Given the description of an element on the screen output the (x, y) to click on. 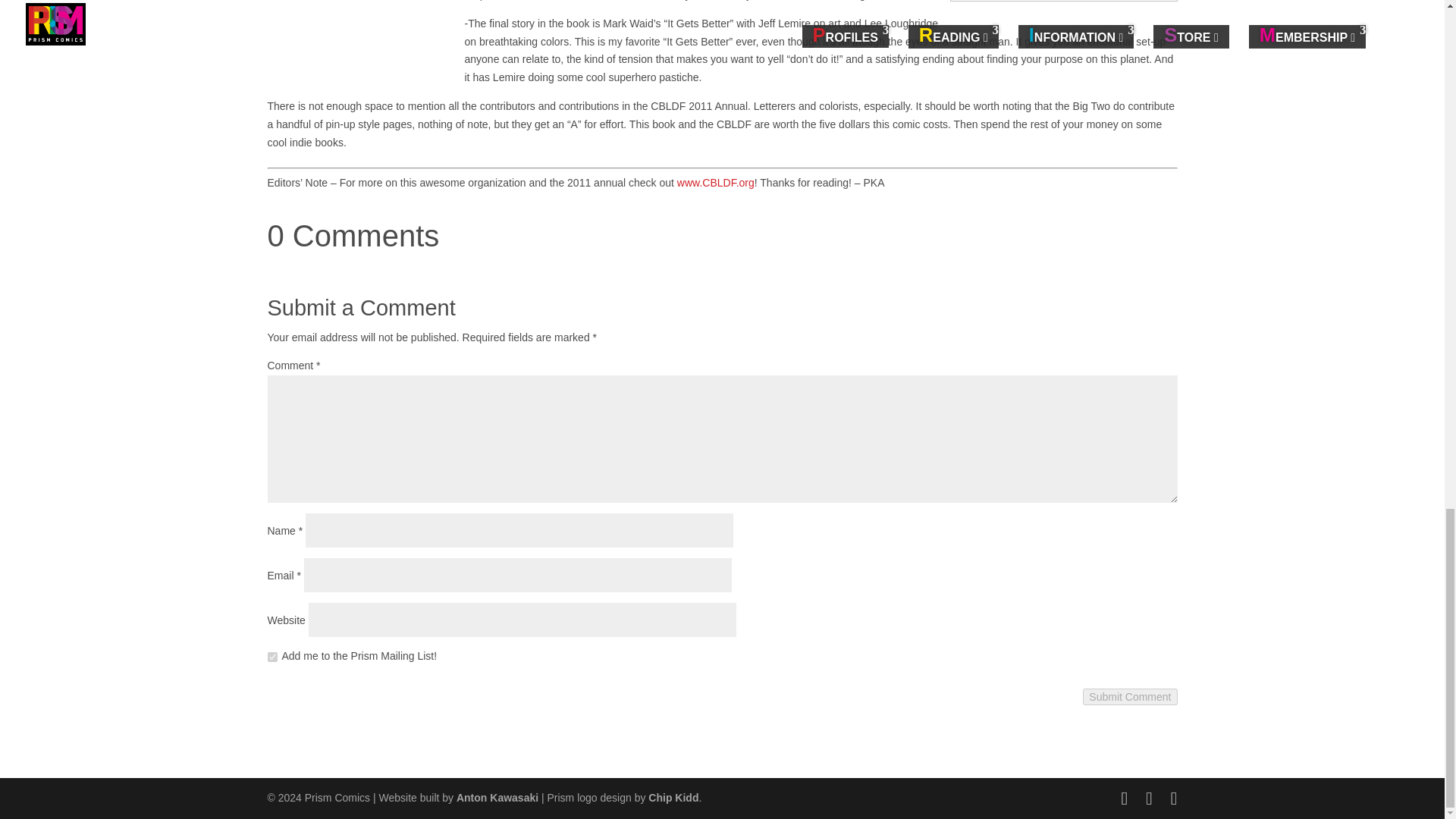
magic (1062, 9)
It Gets Better (359, 36)
www.CBLDF.org (715, 182)
1 (271, 656)
Submit Comment (1129, 696)
